Given the description of an element on the screen output the (x, y) to click on. 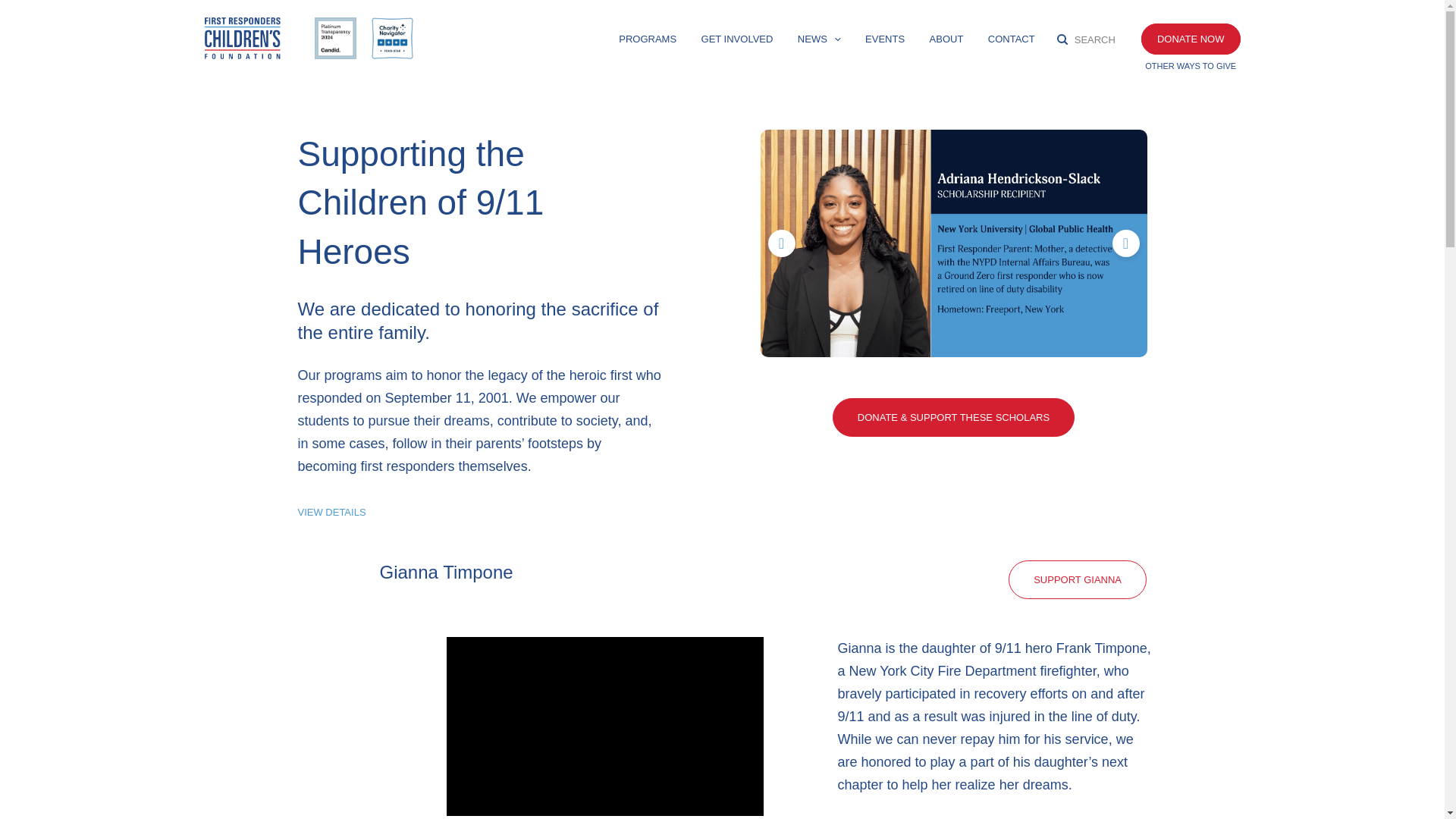
EVENTS (884, 42)
GET INVOLVED (737, 42)
ABOUT (946, 42)
CONTACT (1011, 42)
PROGRAMS (647, 42)
vimeo Video Player (603, 725)
NEWS (819, 42)
DONATE NOW (1190, 38)
OTHER WAYS TO GIVE (1190, 65)
